Given the description of an element on the screen output the (x, y) to click on. 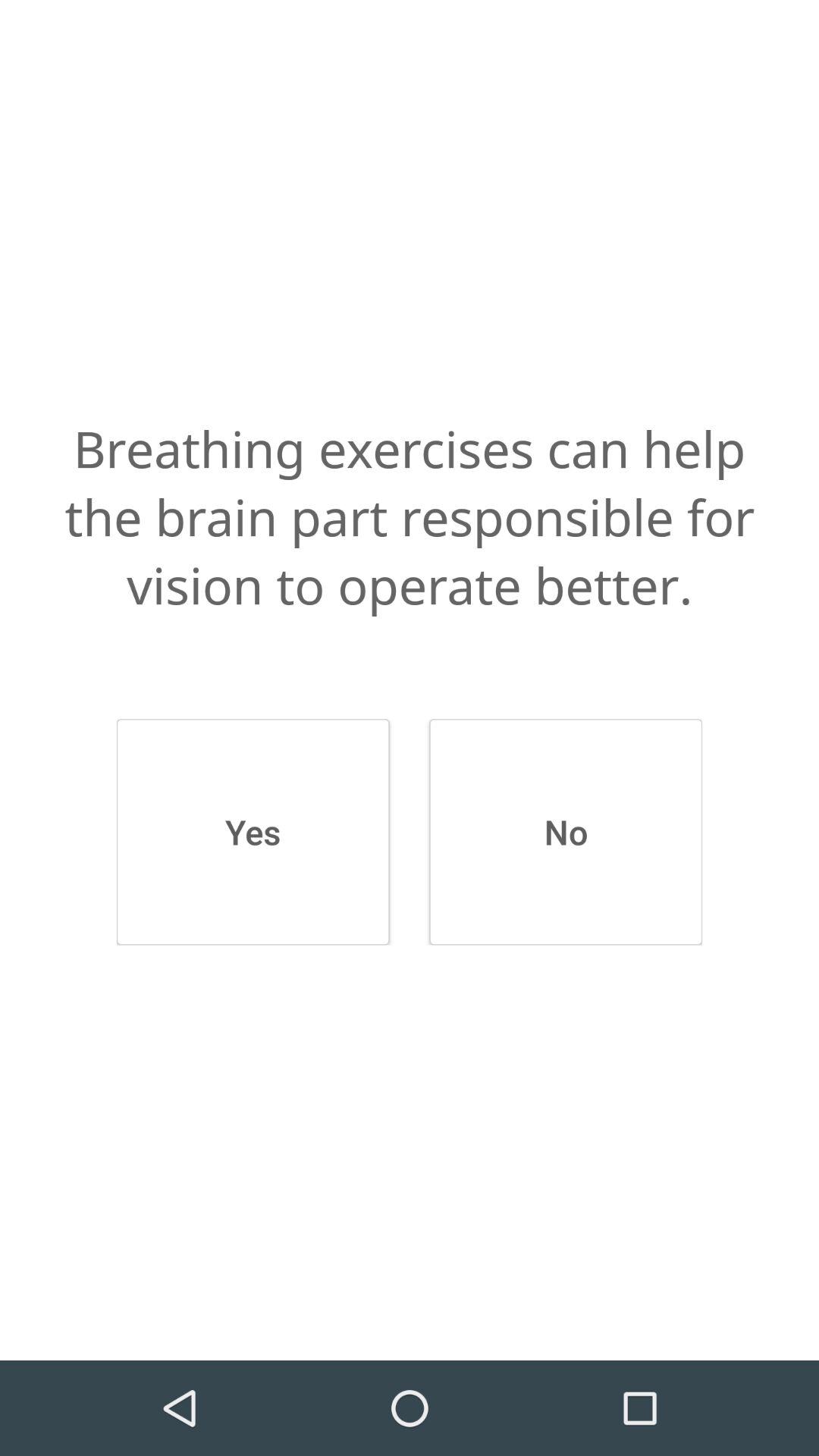
launch the no (565, 831)
